Given the description of an element on the screen output the (x, y) to click on. 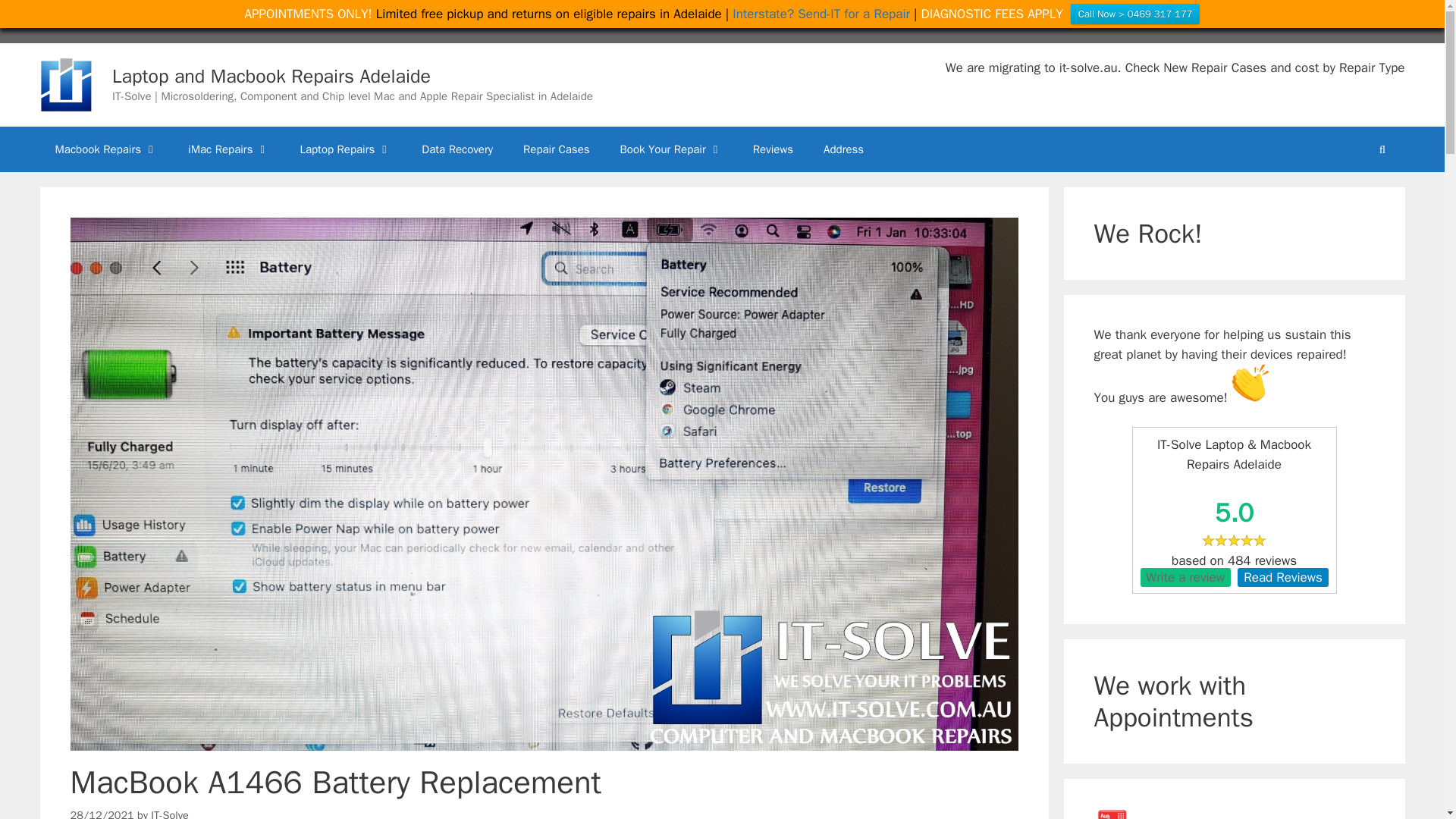
iMac Repairs (228, 148)
Laptop and Macbook Repairs Adelaide (66, 83)
Data Recovery (457, 148)
Repair Cases (556, 148)
View all posts by IT-Solve (170, 813)
Laptop Repairs (344, 148)
New Repair Cases (1214, 67)
APPOINTMENTS ONLY! (308, 13)
Book Your Repair (671, 148)
migrating to it-solve.au (1053, 67)
Laptop and Macbook Repairs Adelaide (271, 75)
Interstate? Send-IT for a Repair (821, 13)
DIAGNOSTIC FEES APPLY (991, 13)
Macbook Repairs (106, 148)
Laptop and Macbook Repairs Adelaide (66, 84)
